Given the description of an element on the screen output the (x, y) to click on. 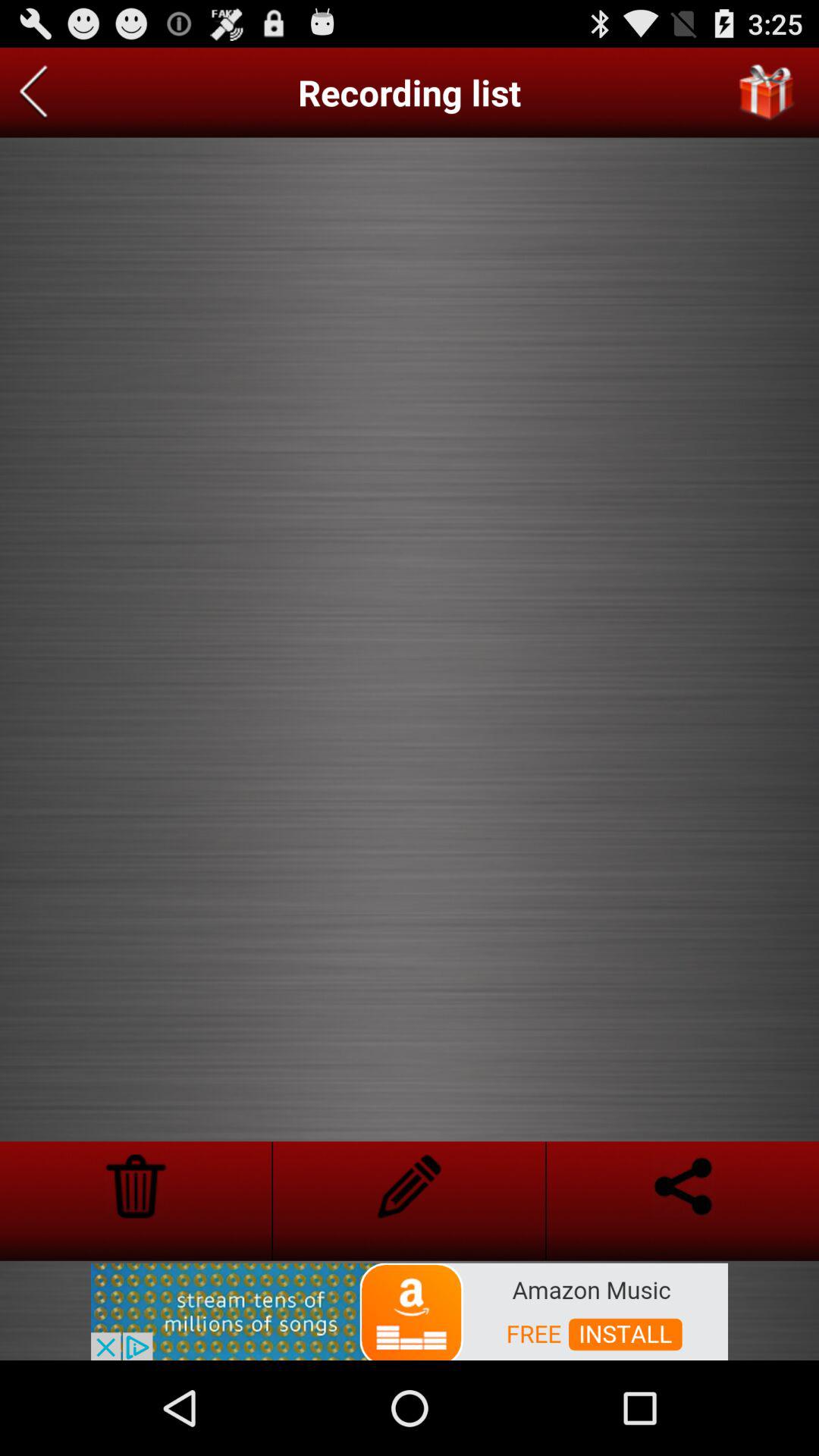
join amazon music (409, 1310)
